Given the description of an element on the screen output the (x, y) to click on. 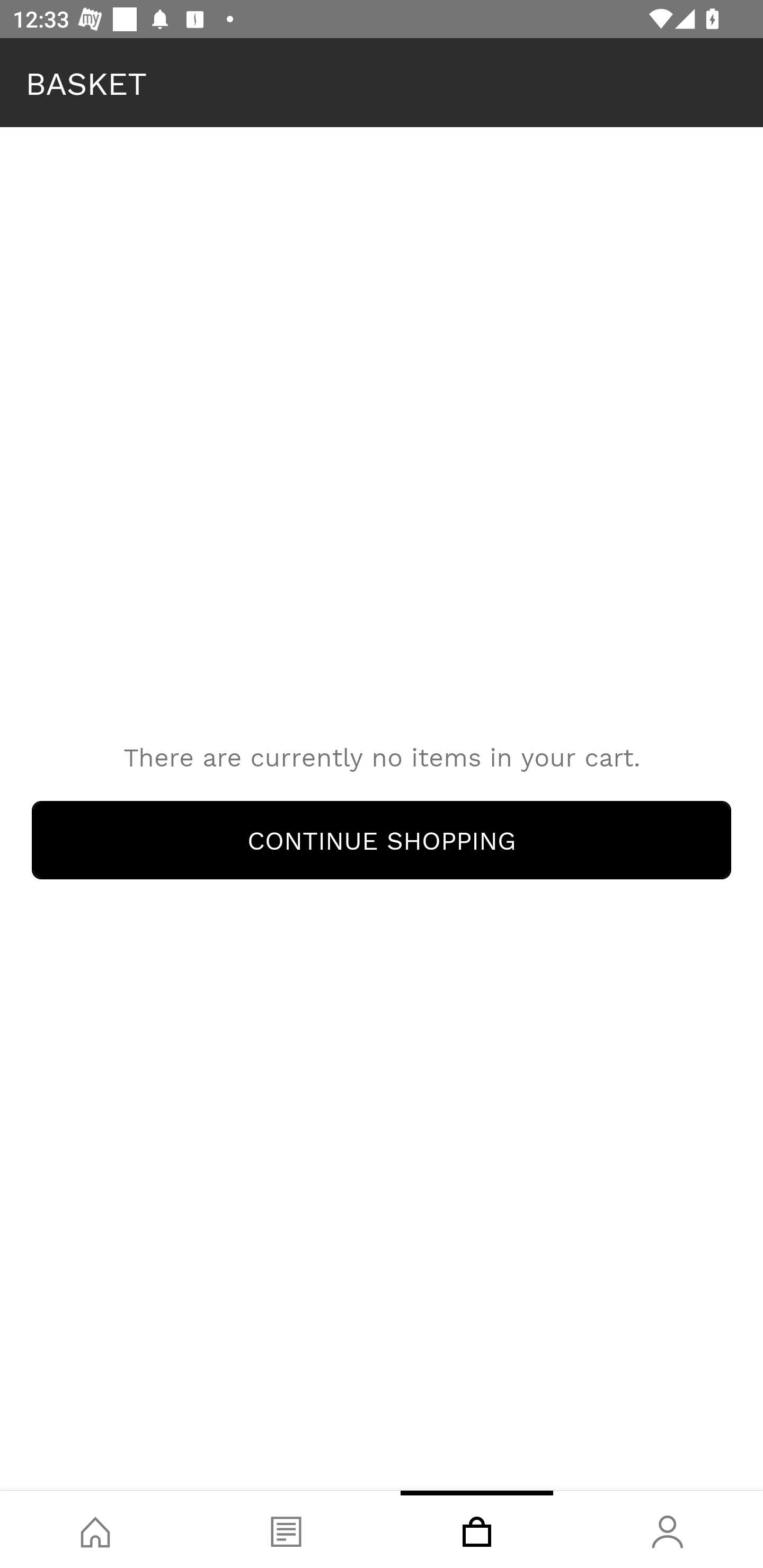
Continue Shopping CONTINUE SHOPPING (381, 840)
Shop, tab, 1 of 4 (95, 1529)
Blog, tab, 2 of 4 (285, 1529)
Basket, tab, 3 of 4 (476, 1529)
Account, tab, 4 of 4 (667, 1529)
